Given the description of an element on the screen output the (x, y) to click on. 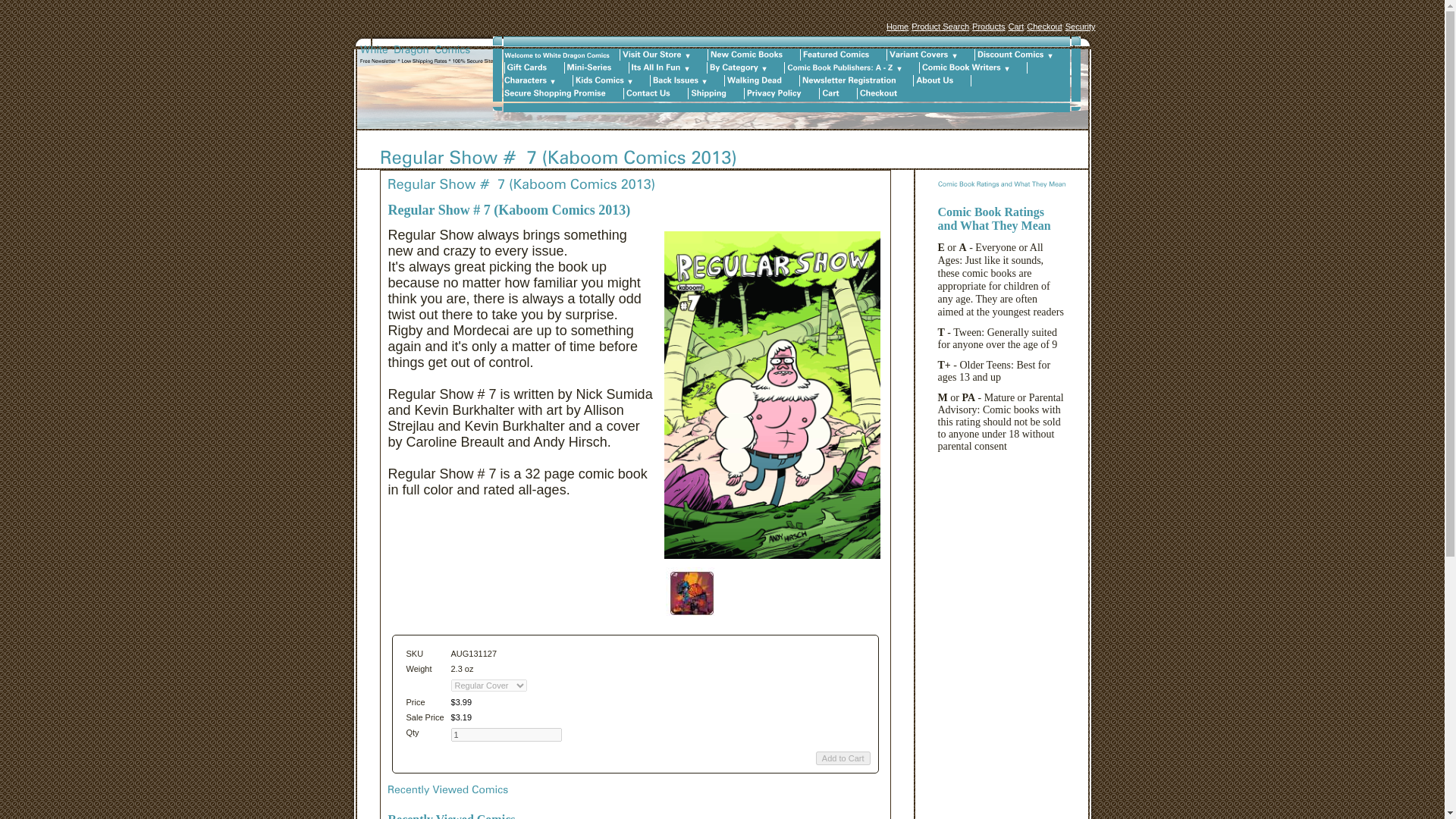
Cover B (691, 593)
Product Search (940, 26)
Security (1080, 26)
Home (897, 26)
Products (988, 26)
1 (504, 735)
Checkout (1043, 26)
Cart (1015, 26)
